Given the description of an element on the screen output the (x, y) to click on. 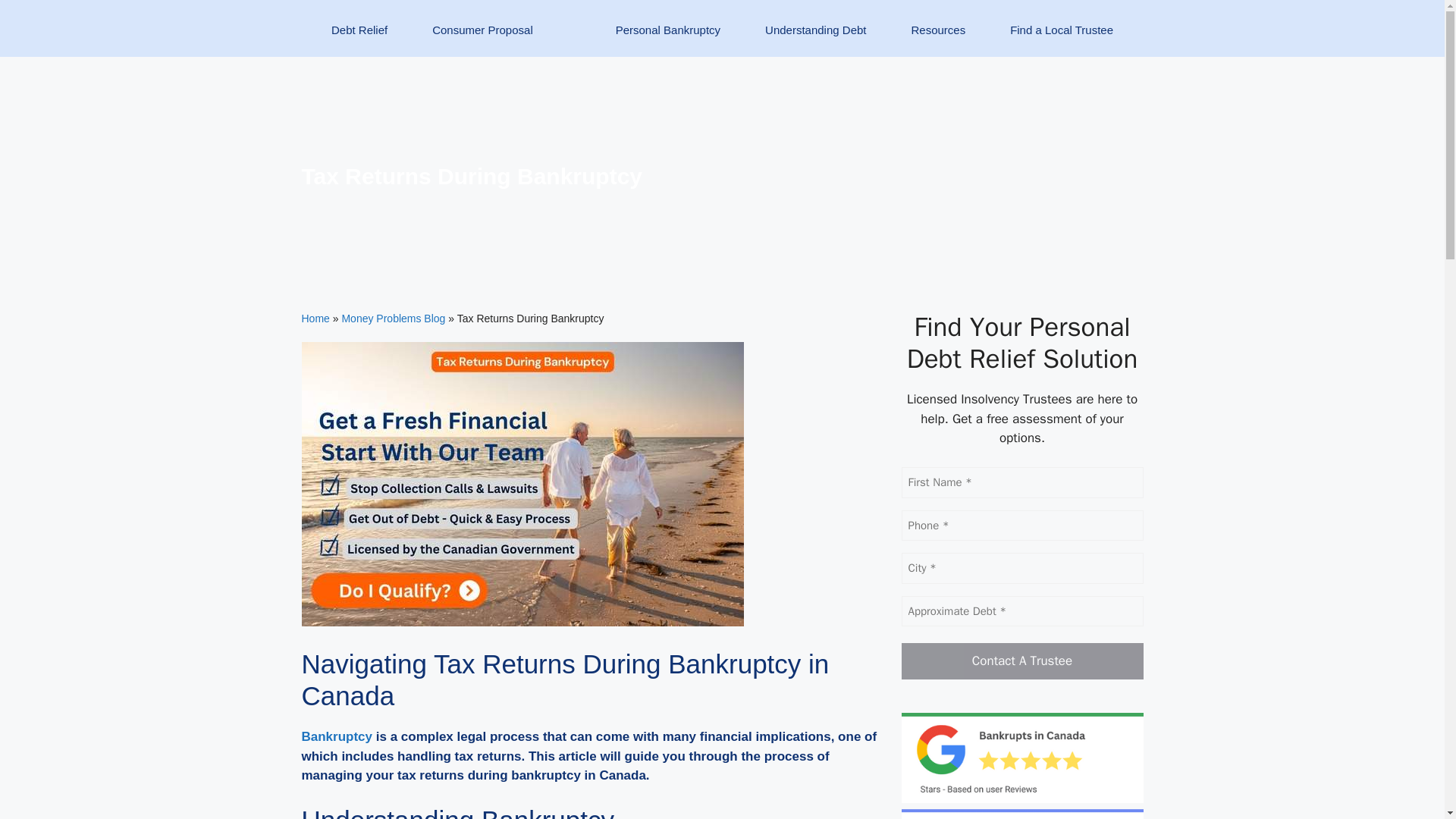
Personal Bankruptcy (667, 39)
Find a Local Trustee (1061, 39)
Consumer Proposal (483, 39)
Contact A Trustee (1021, 660)
Resources (938, 39)
Understanding Debt (815, 39)
Debt Relief (359, 39)
